Given the description of an element on the screen output the (x, y) to click on. 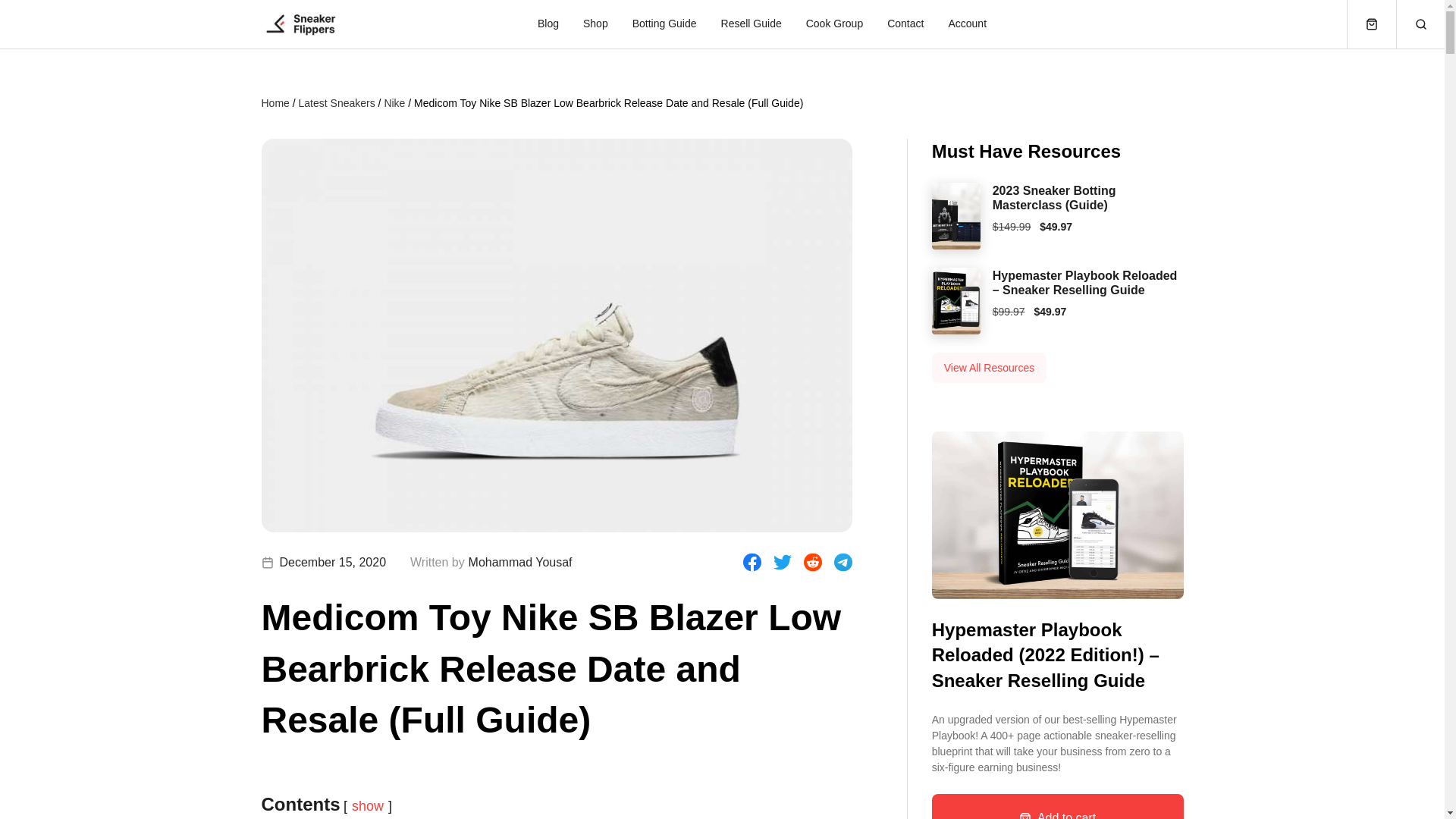
Cook Group (834, 24)
Resell Guide (750, 24)
Home (274, 102)
show (368, 806)
Nike (394, 102)
Latest Sneakers (336, 102)
Botting Guide (664, 24)
